Given the description of an element on the screen output the (x, y) to click on. 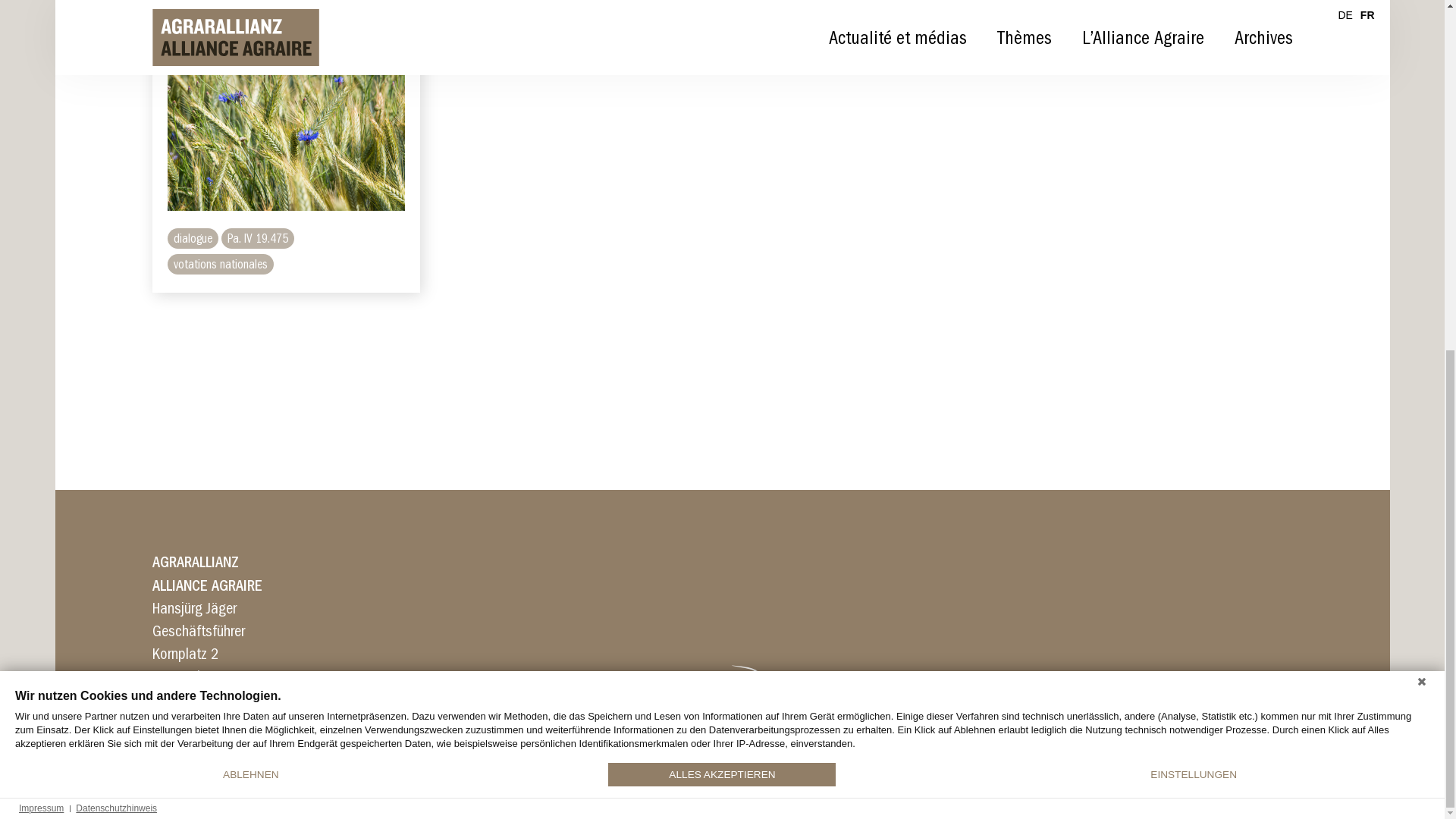
FR Element type: text (1367, 622)
Alliance Agraire Element type: text (234, 645)
Felder (1 von 2) Element type: hover (285, 738)
DE Element type: text (1344, 622)
Archives Element type: text (1263, 644)
Continuer Element type: text (193, 633)
